Given the description of an element on the screen output the (x, y) to click on. 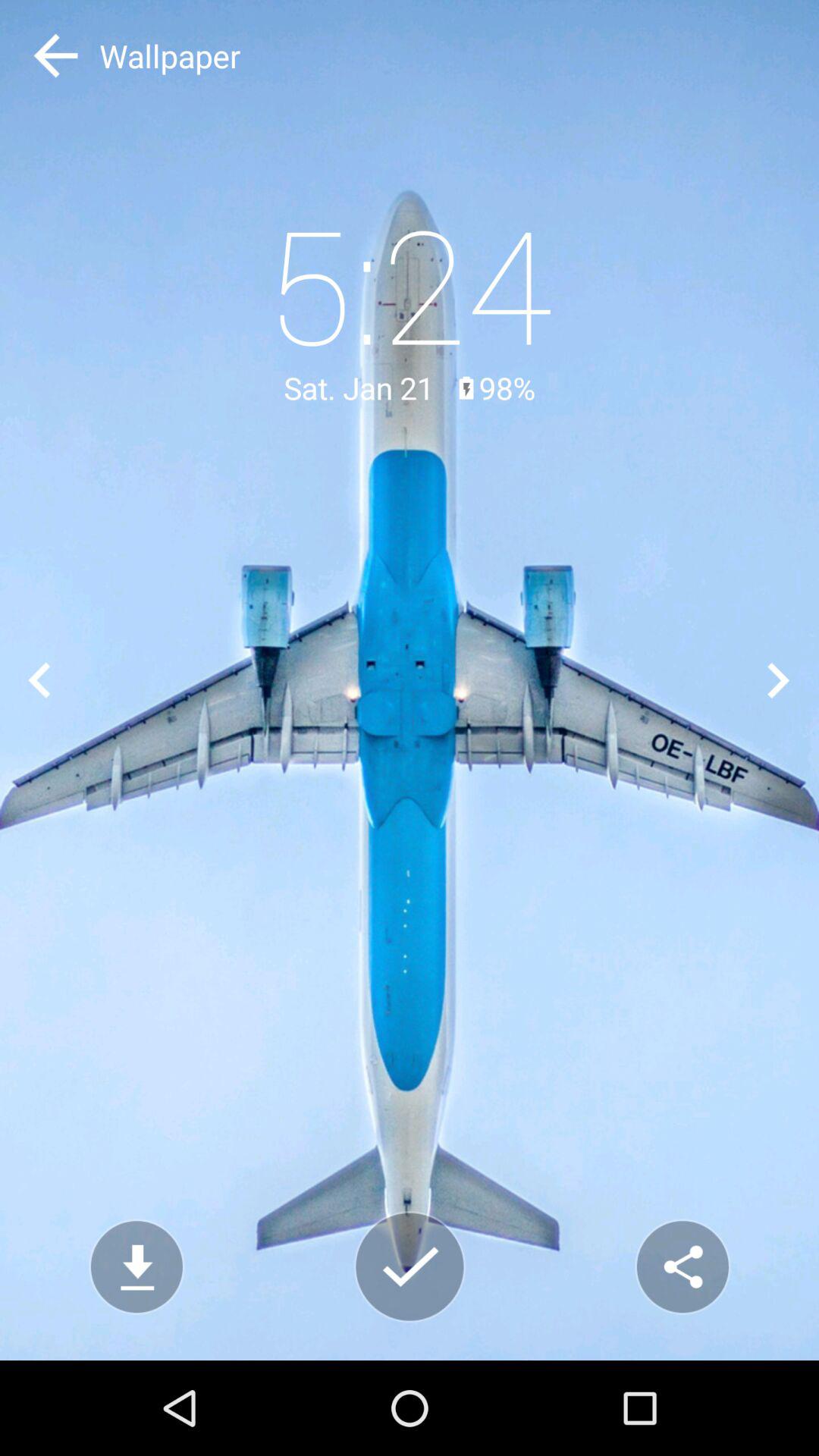
click share option (682, 1266)
